Given the description of an element on the screen output the (x, y) to click on. 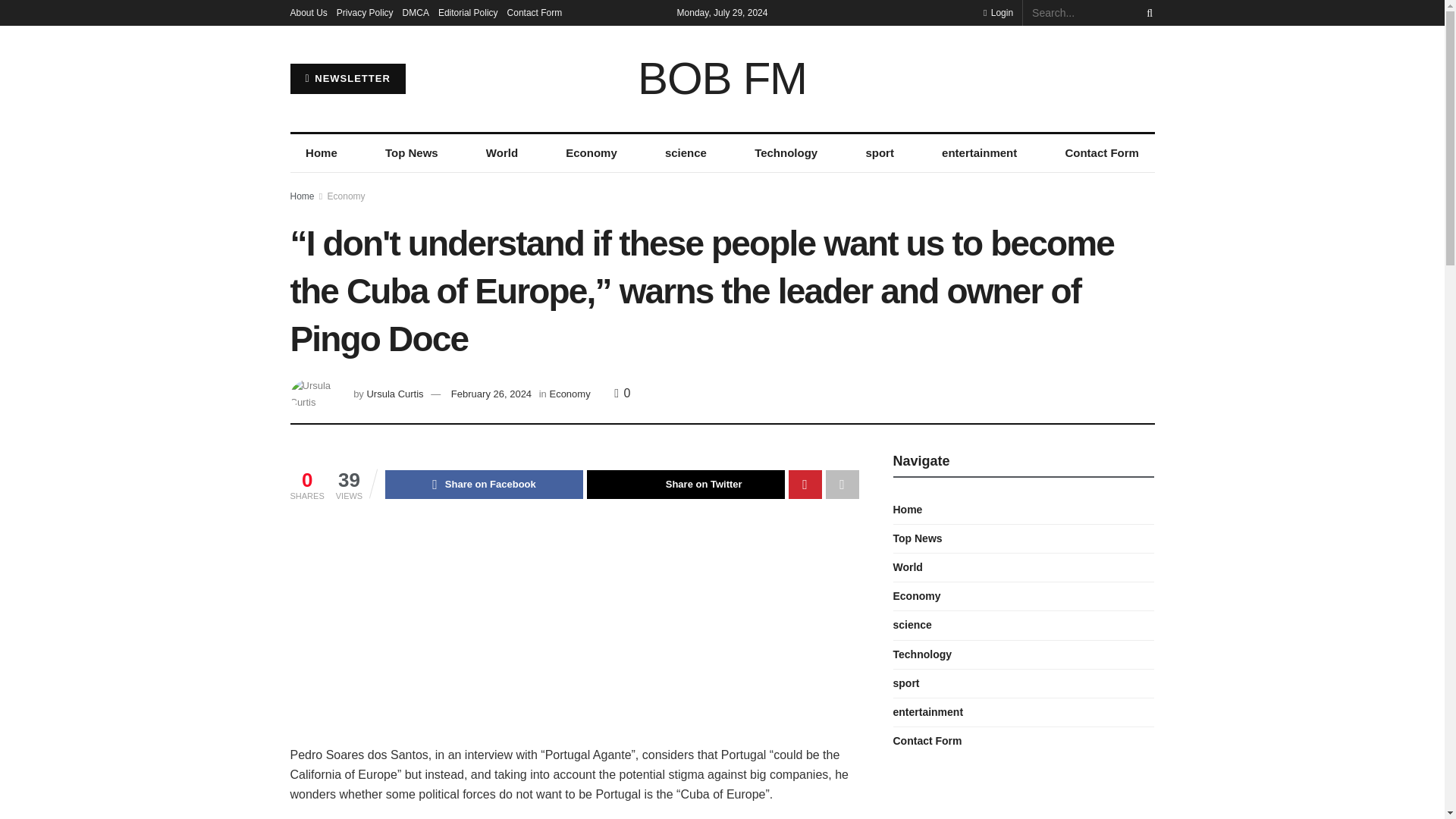
Economy (591, 152)
Technology (785, 152)
World (501, 152)
Advertisement (574, 631)
0 (622, 392)
BOB FM (721, 78)
Ursula Curtis (394, 393)
Economy (346, 195)
science (685, 152)
Home (320, 152)
Login (998, 12)
Home (301, 195)
About Us (307, 12)
Contact Form (534, 12)
Privacy Policy (364, 12)
